Given the description of an element on the screen output the (x, y) to click on. 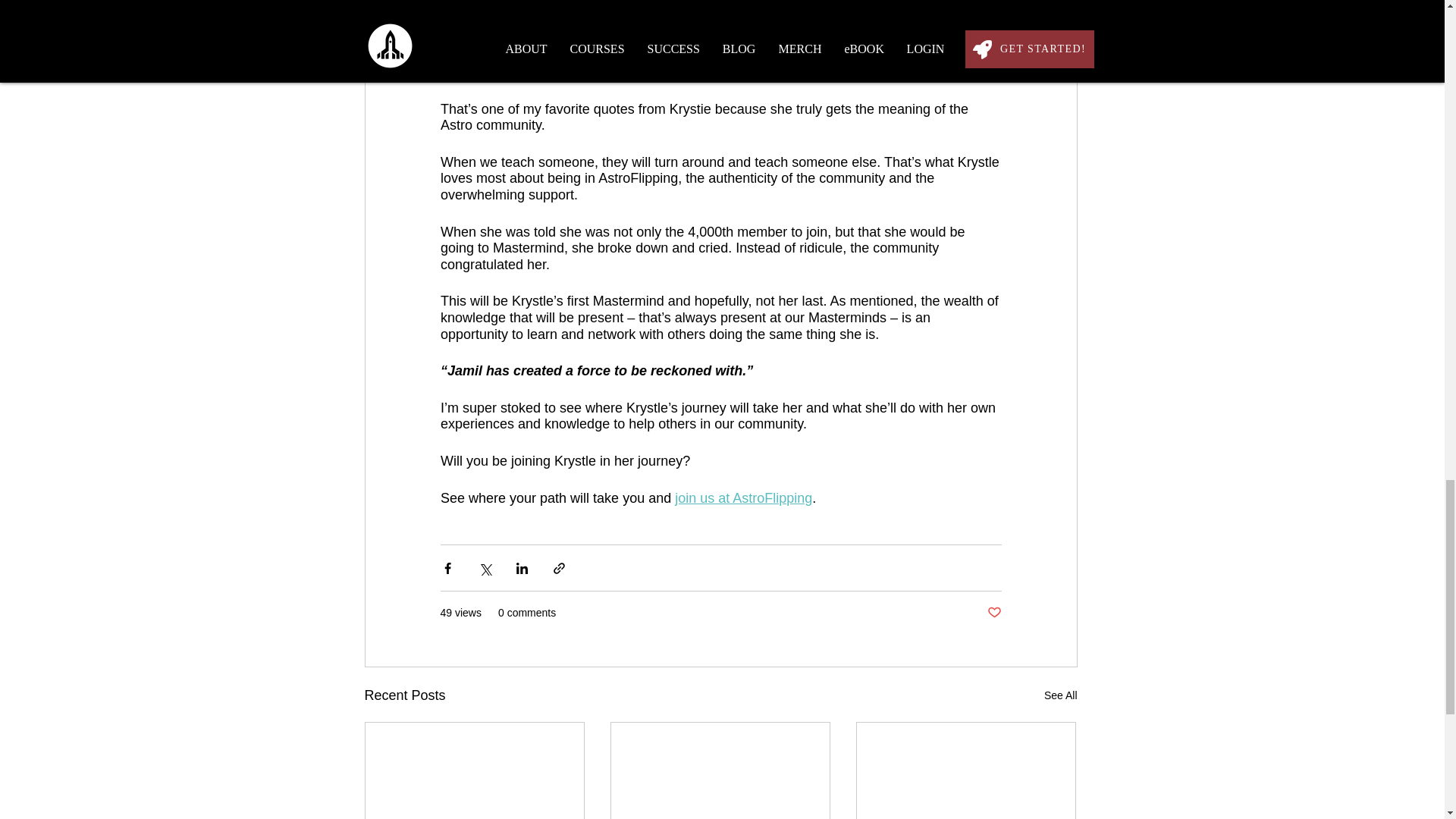
See All (1060, 695)
join us at AstroFlipping (743, 497)
Post not marked as liked (994, 612)
